Given the description of an element on the screen output the (x, y) to click on. 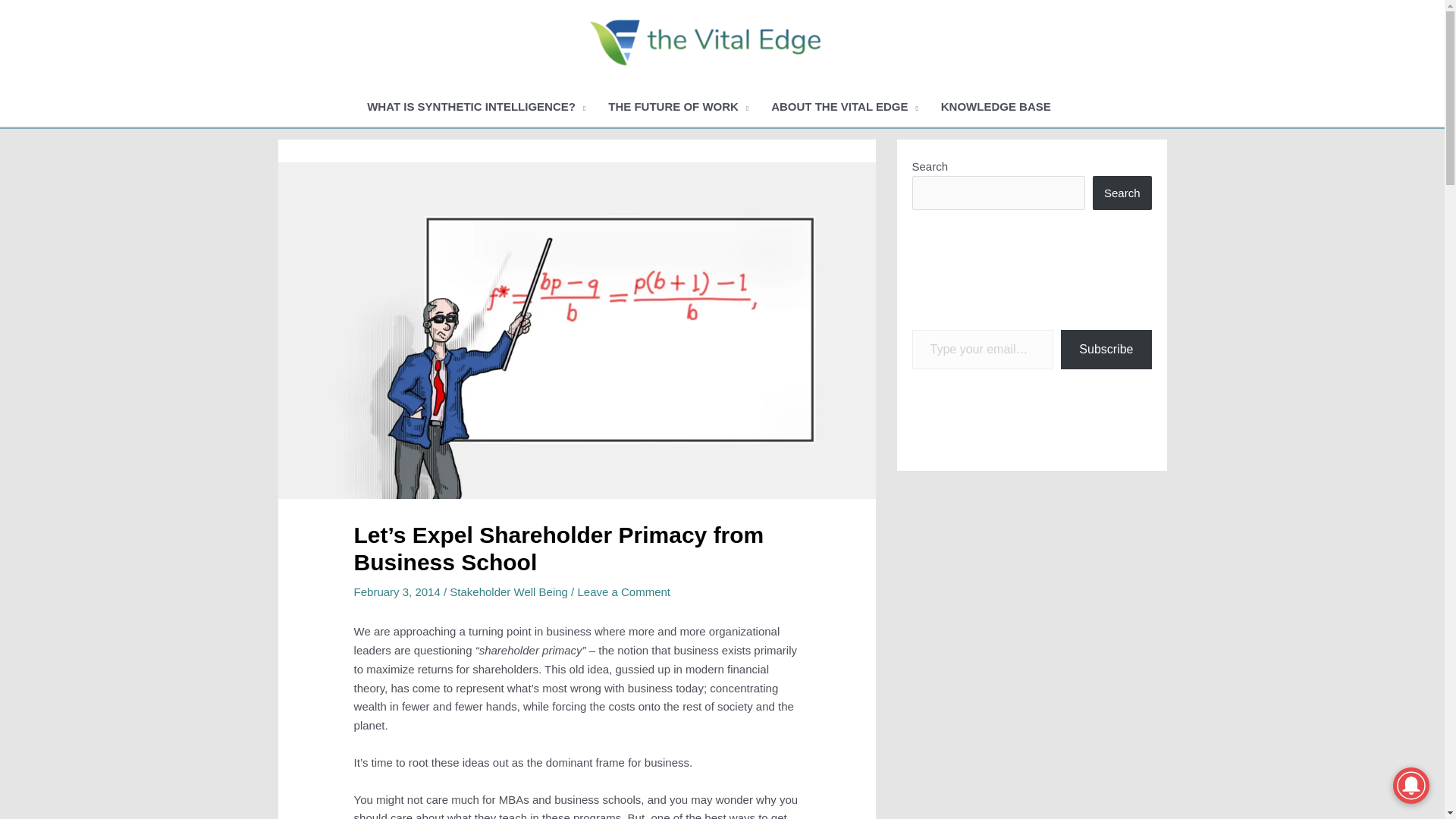
Stakeholder Well Being (508, 591)
KNOWLEDGE BASE (996, 106)
WHAT IS SYNTHETIC INTELLIGENCE? (475, 106)
Leave a Comment (622, 591)
ABOUT THE VITAL EDGE (845, 106)
THE FUTURE OF WORK (678, 106)
